Given the description of an element on the screen output the (x, y) to click on. 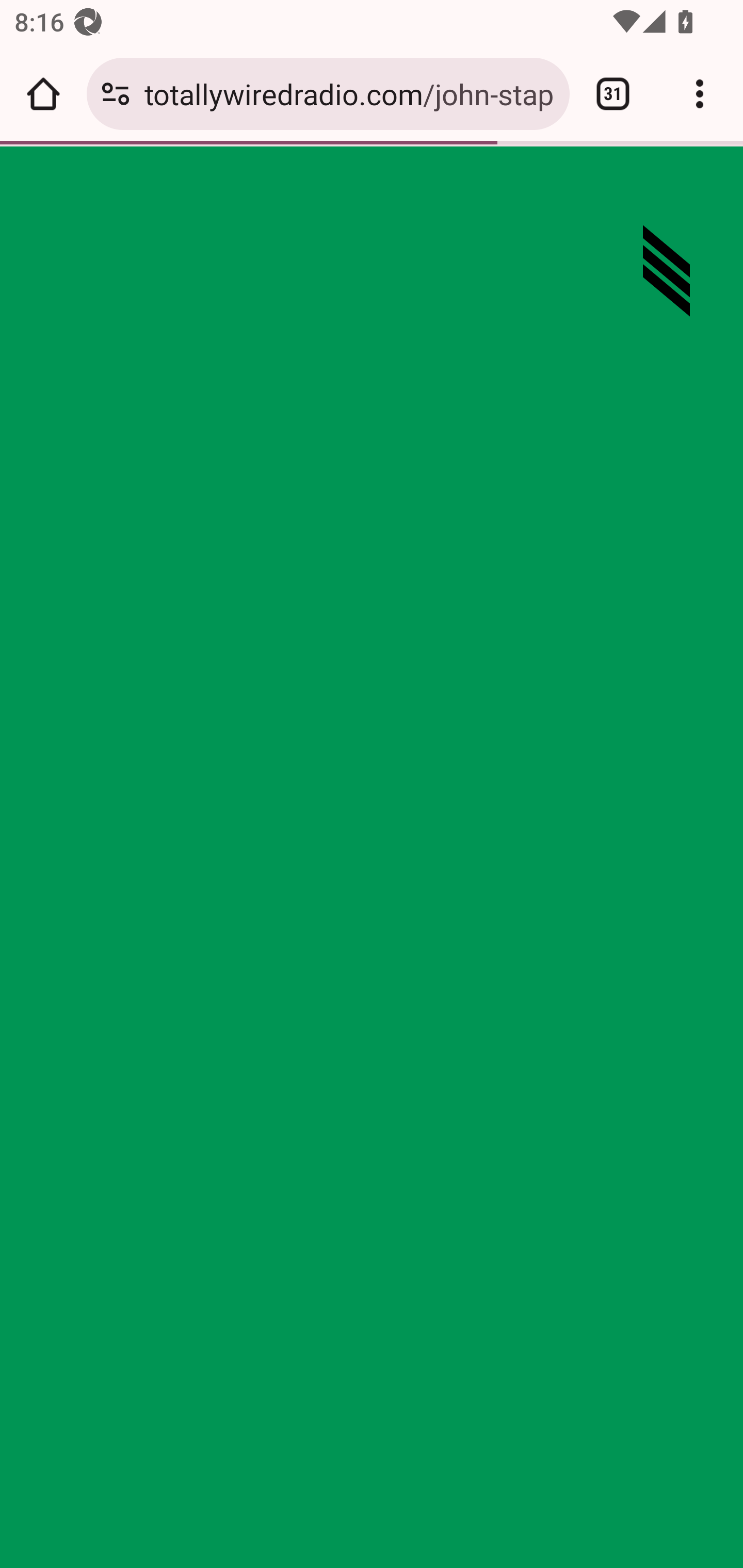
Open the home page (43, 93)
Connection is secure (115, 93)
Switch or close tabs (612, 93)
Customize and control Google Chrome (699, 93)
totallywiredradio.com/john-stapleton/ (349, 92)
